Given the description of an element on the screen output the (x, y) to click on. 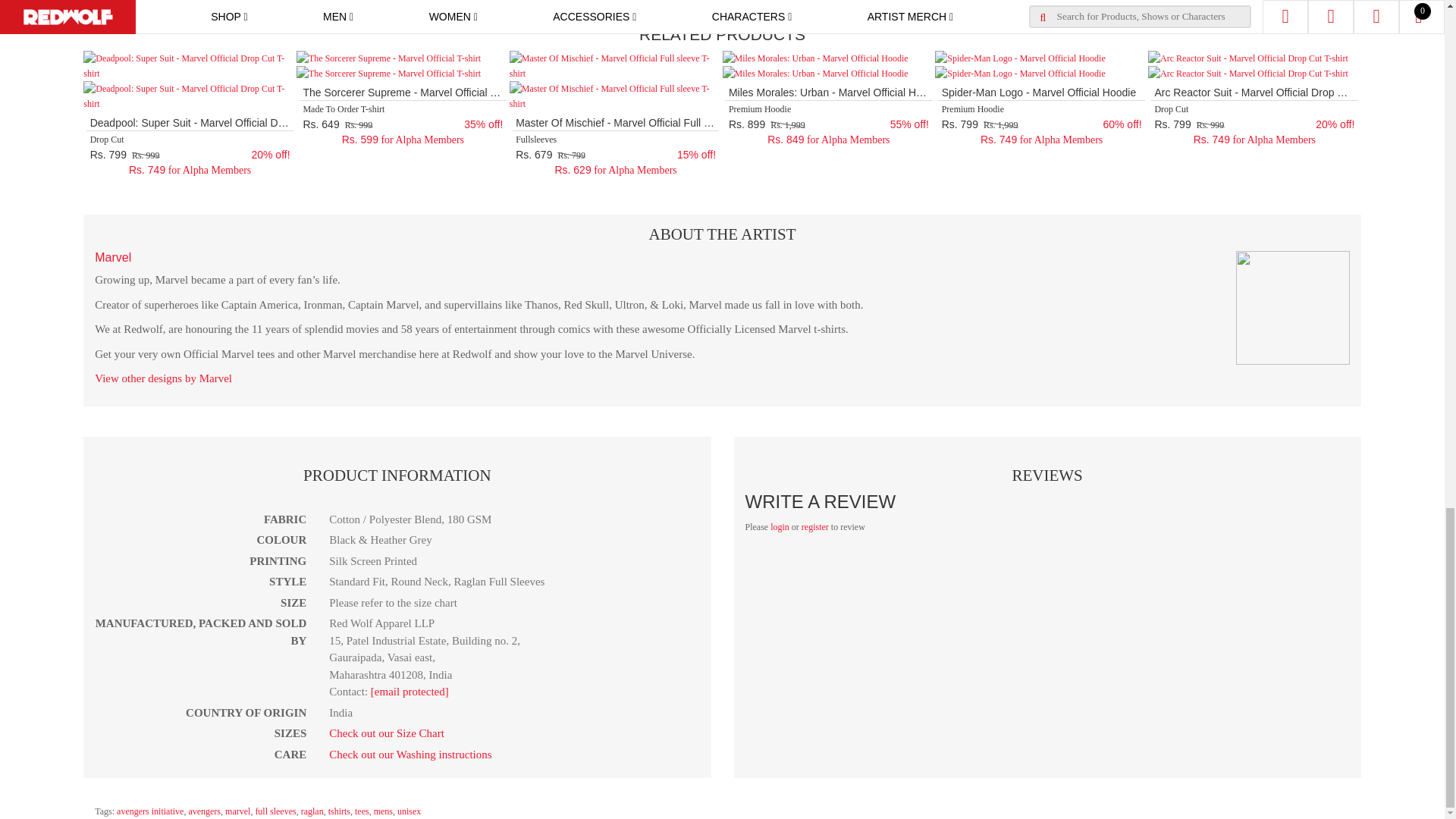
Master Of Mischief - Marvel Official Full sleeve T-shirt (615, 65)
Miles Morales: Urban - Marvel Official Hoodie (814, 58)
Arc Reactor Suit - Marvel Official Drop Cut T-shirt (1248, 58)
Spider-Man Logo - Marvel Official Hoodie (1019, 58)
Deadpool: Super Suit - Marvel Official Drop Cut T-shirt (189, 65)
The Sorcerer Supreme - Marvel Official T-shirt (388, 58)
